Given the description of an element on the screen output the (x, y) to click on. 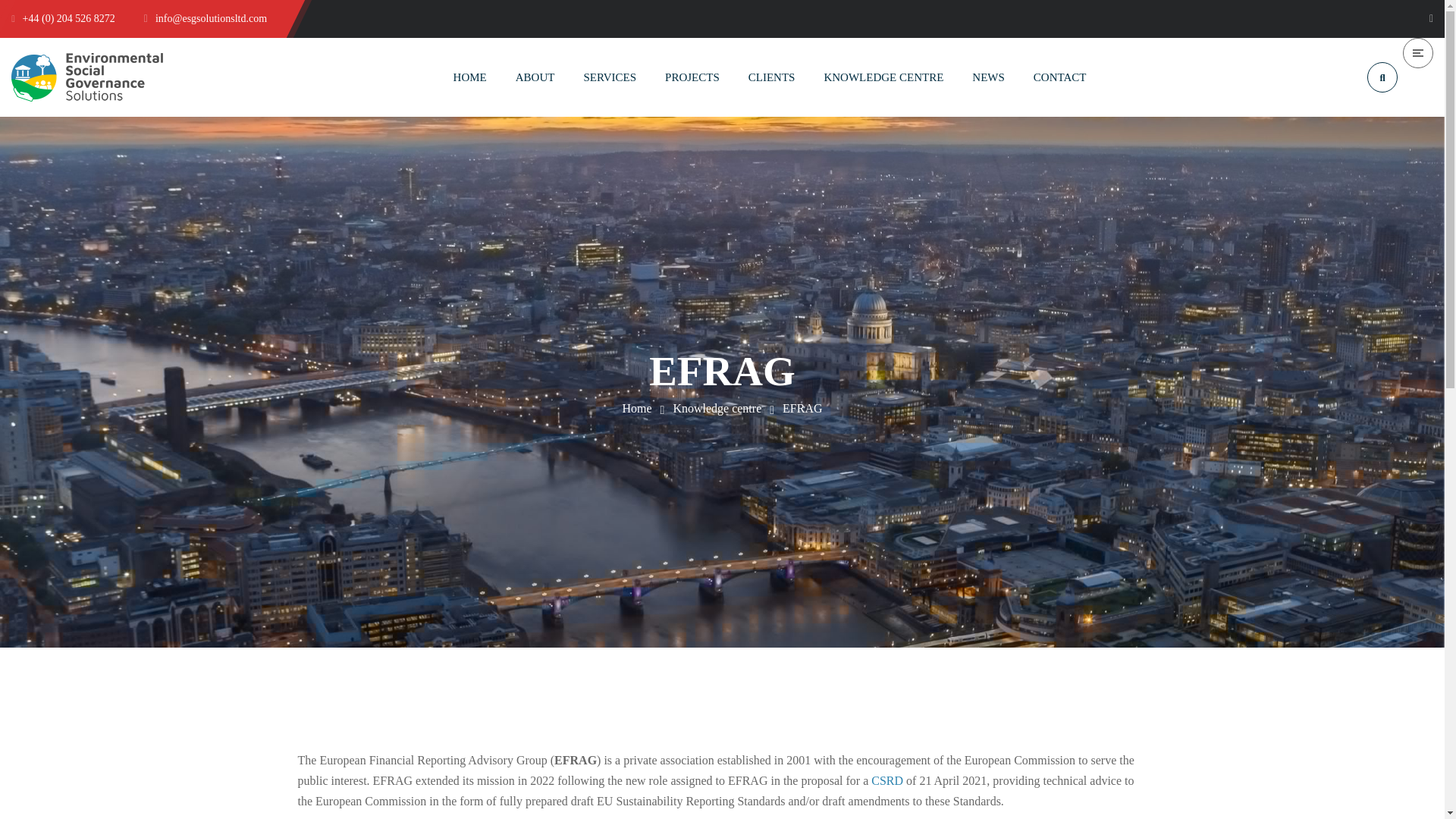
Knowledge centre (716, 408)
CSRD (886, 780)
E.S.G. Solutions (87, 77)
Knowledge centre (716, 408)
KNOWLEDGE CENTRE (883, 77)
E.S.G. Solutions (635, 408)
Home (635, 408)
